Given the description of an element on the screen output the (x, y) to click on. 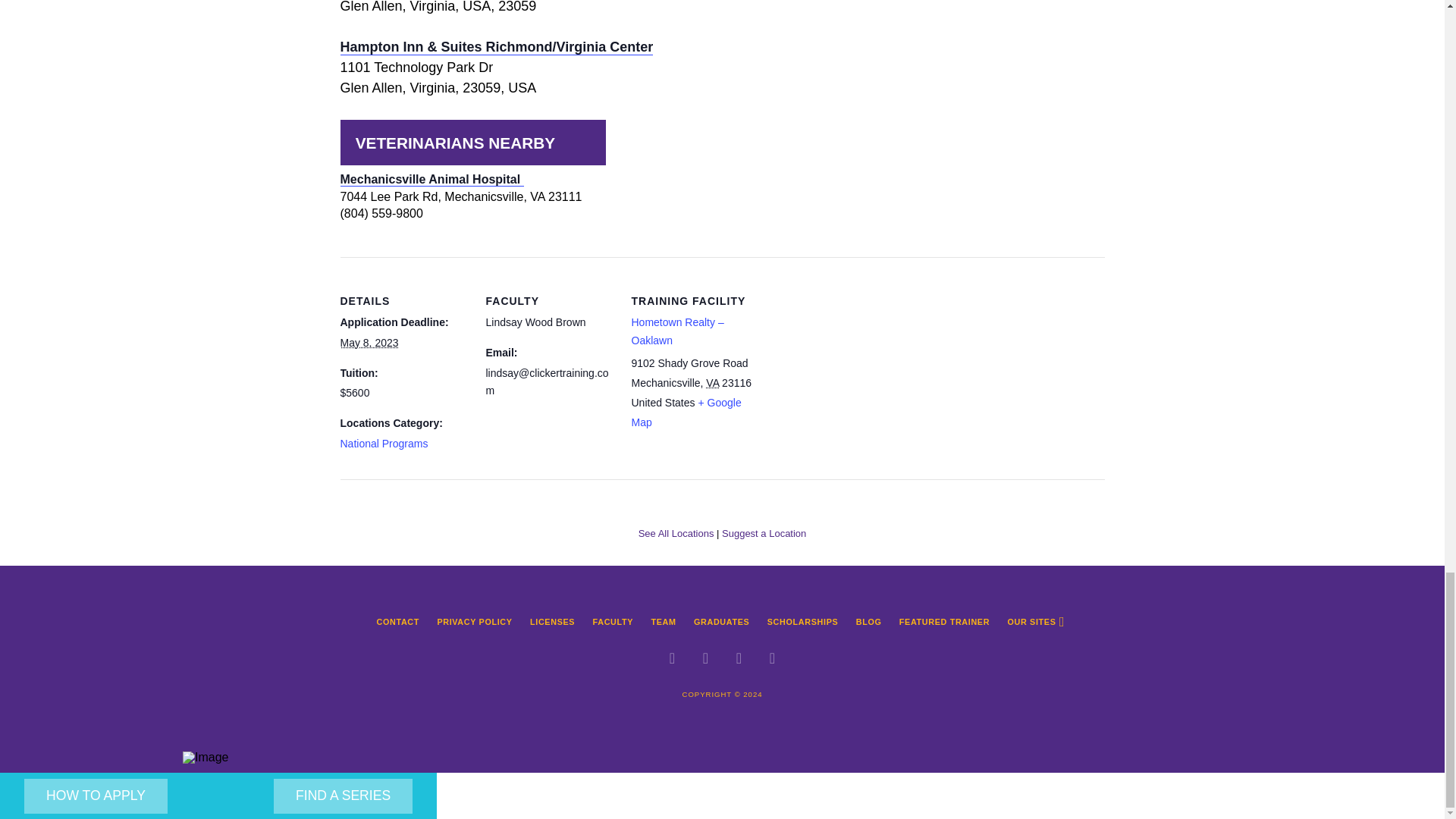
Virginia (712, 382)
Click to view a Google Map (685, 412)
2023-05-08 (368, 342)
